Given the description of an element on the screen output the (x, y) to click on. 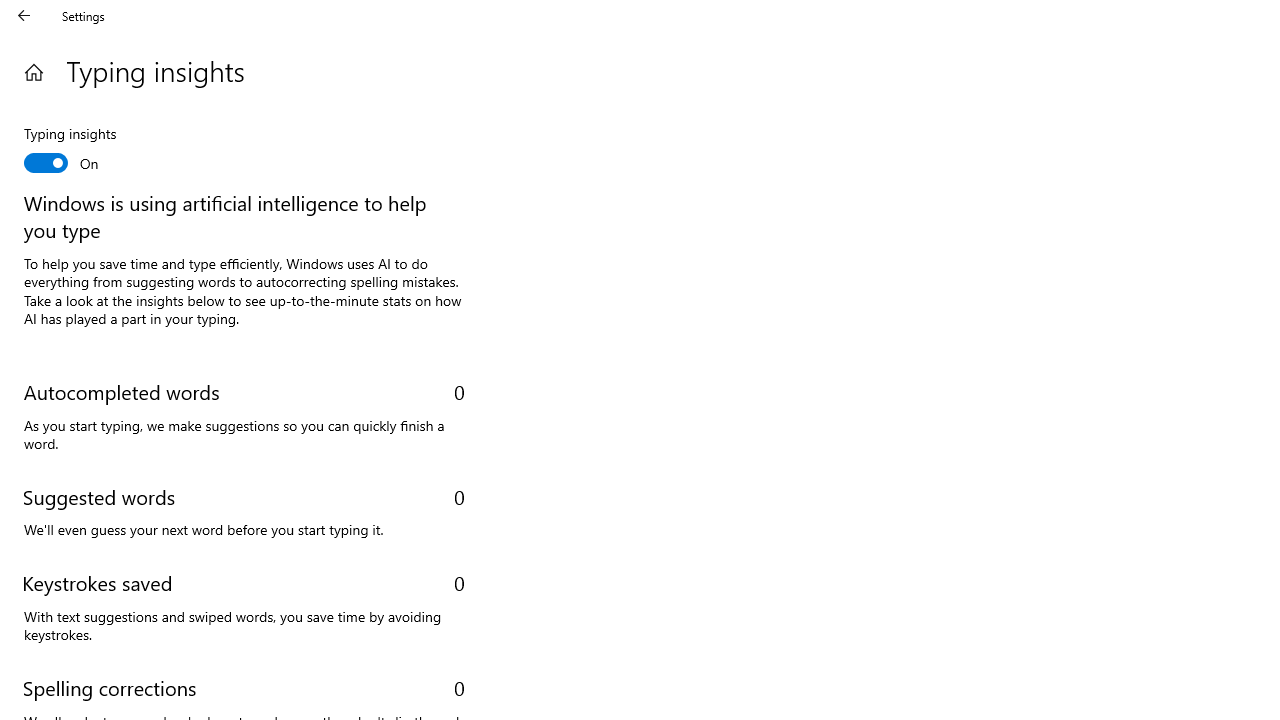
Typing insights (97, 151)
Back (24, 15)
Home (33, 71)
